Given the description of an element on the screen output the (x, y) to click on. 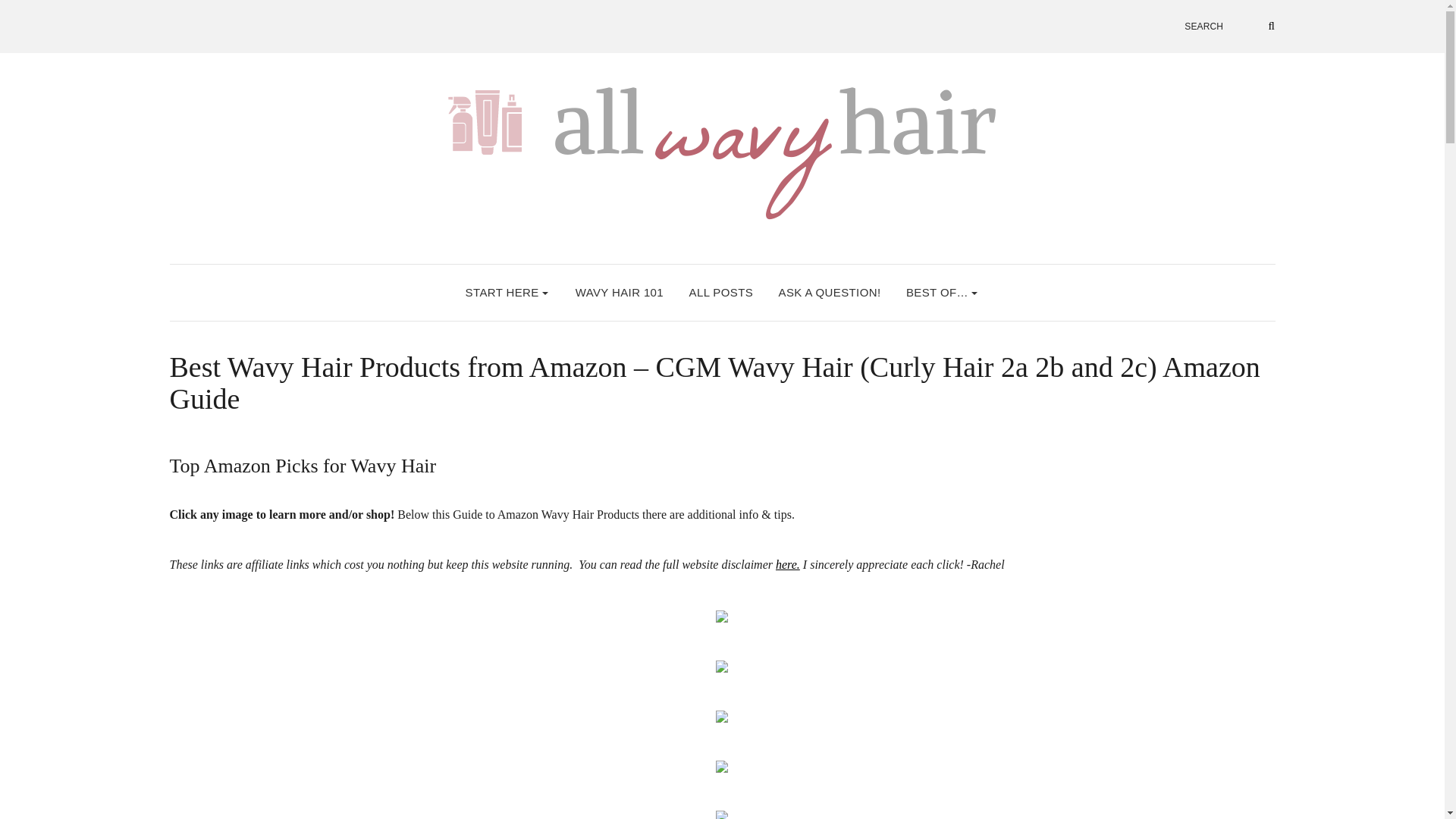
START HERE (507, 292)
Wavy hair 101 the basics of wavy hair method (619, 292)
WAVY HAIR 101 (619, 292)
here. (787, 563)
ASK A QUESTION! (829, 292)
ALL POSTS (721, 292)
